Given the description of an element on the screen output the (x, y) to click on. 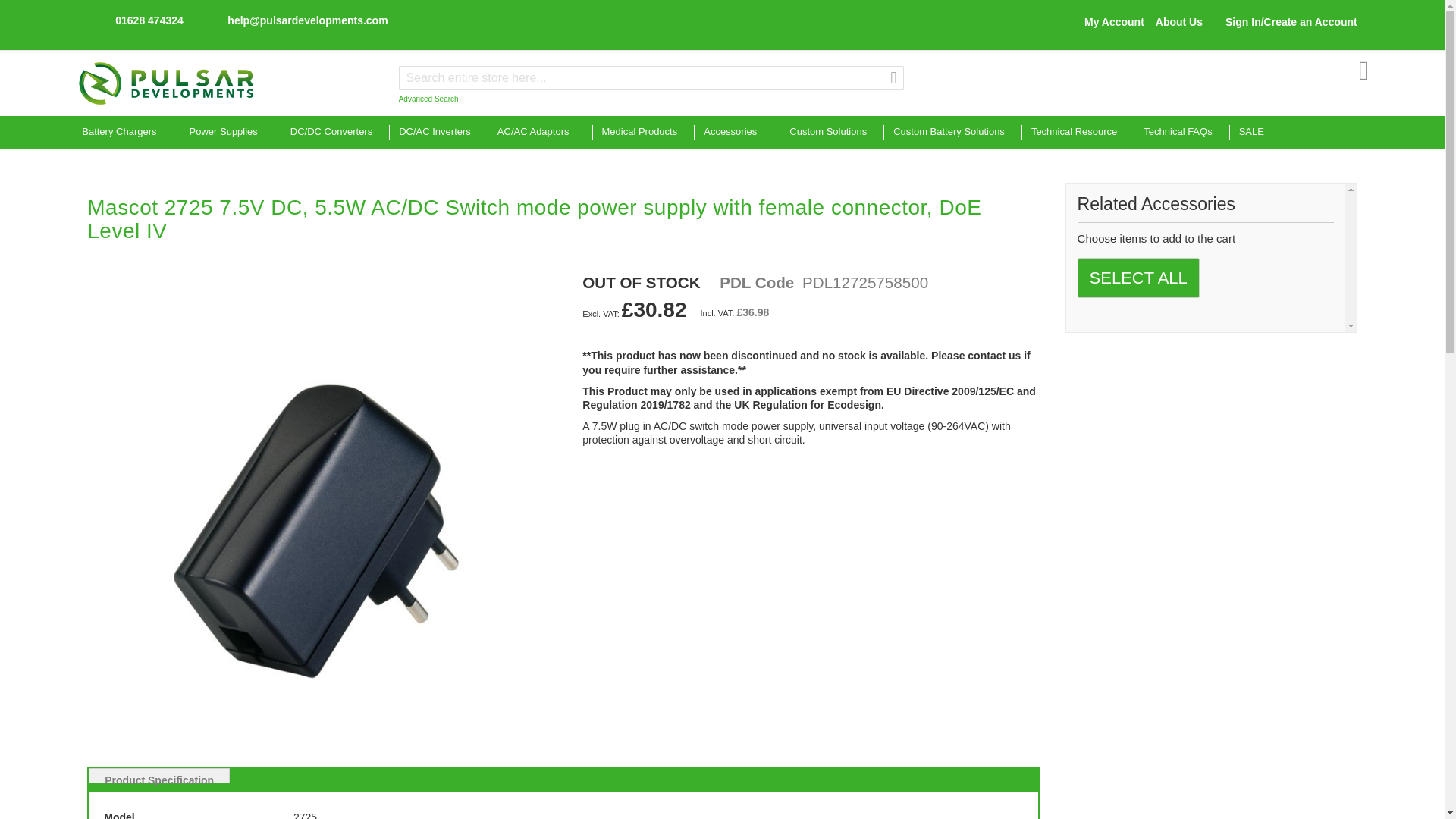
01628 474324 (141, 21)
Custom Solutions (828, 131)
01628 474324 (149, 20)
Custom Battery Solutions (948, 131)
Battery Chargers (126, 131)
Advanced Search (428, 99)
Pulsar Developments (166, 83)
Accessories (732, 131)
Availability (641, 282)
My Account (1114, 21)
